Given the description of an element on the screen output the (x, y) to click on. 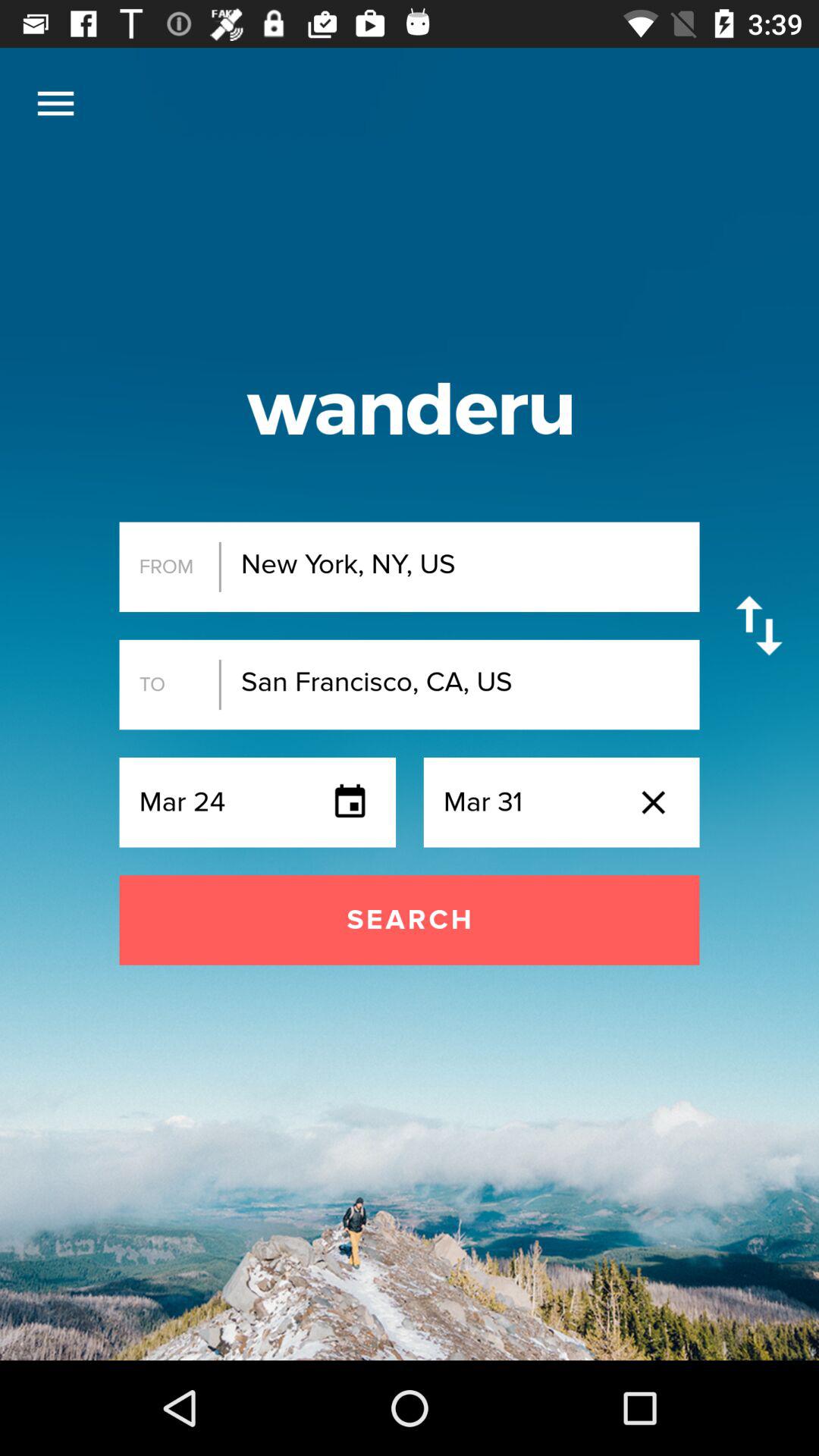
page up andpage down (759, 625)
